Given the description of an element on the screen output the (x, y) to click on. 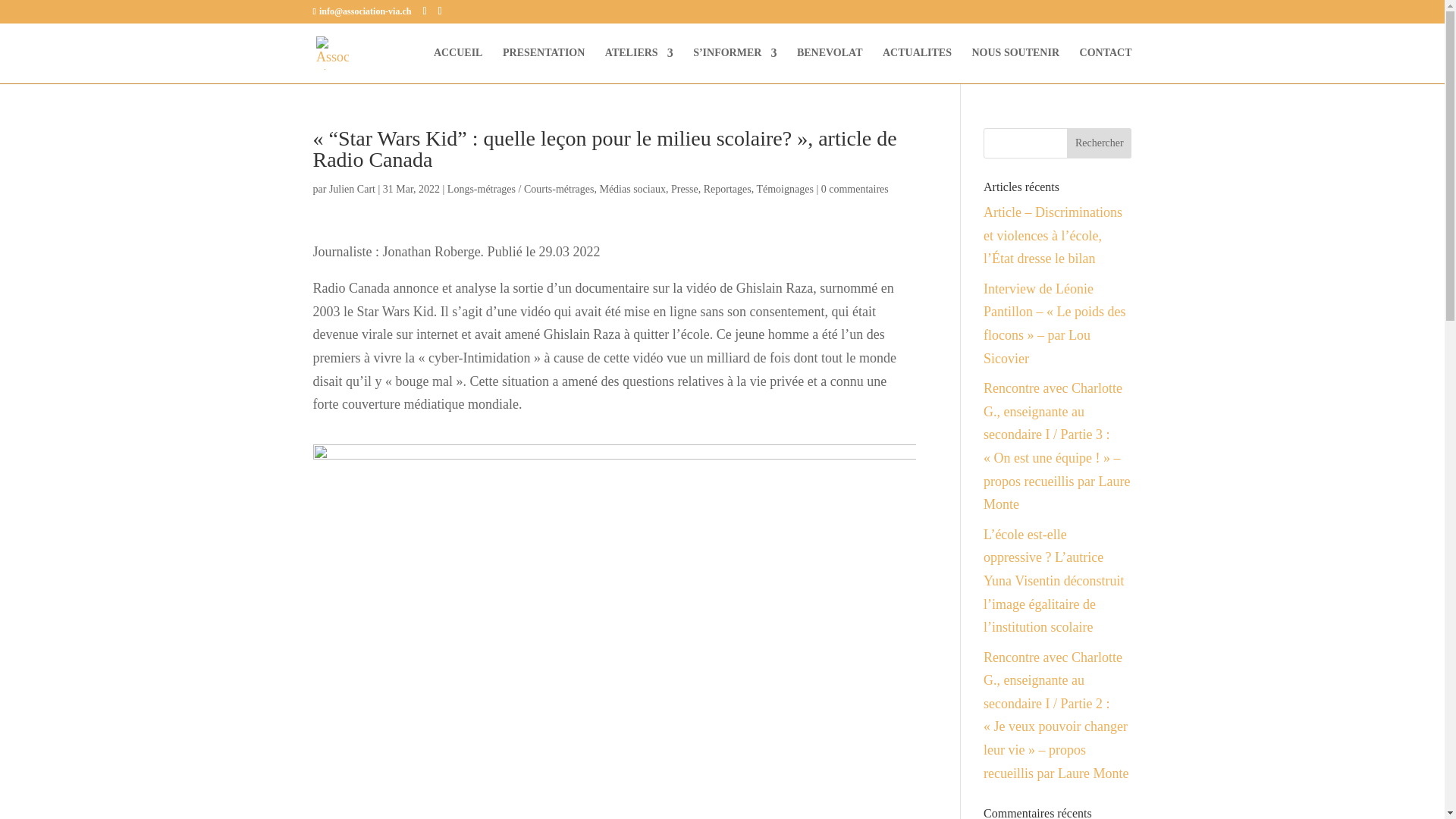
ATELIERS Element type: text (639, 65)
BENEVOLAT Element type: text (829, 65)
PRESENTATION Element type: text (543, 65)
CONTACT Element type: text (1105, 65)
Presse Element type: text (684, 188)
Rechercher Element type: text (1098, 143)
Julien Cart Element type: text (352, 188)
info@association-via.ch Element type: text (361, 11)
0 commentaires Element type: text (854, 188)
Reportages Element type: text (727, 188)
NOUS SOUTENIR Element type: text (1016, 65)
ACCUEIL Element type: text (458, 65)
ACTUALITES Element type: text (916, 65)
